Given the description of an element on the screen output the (x, y) to click on. 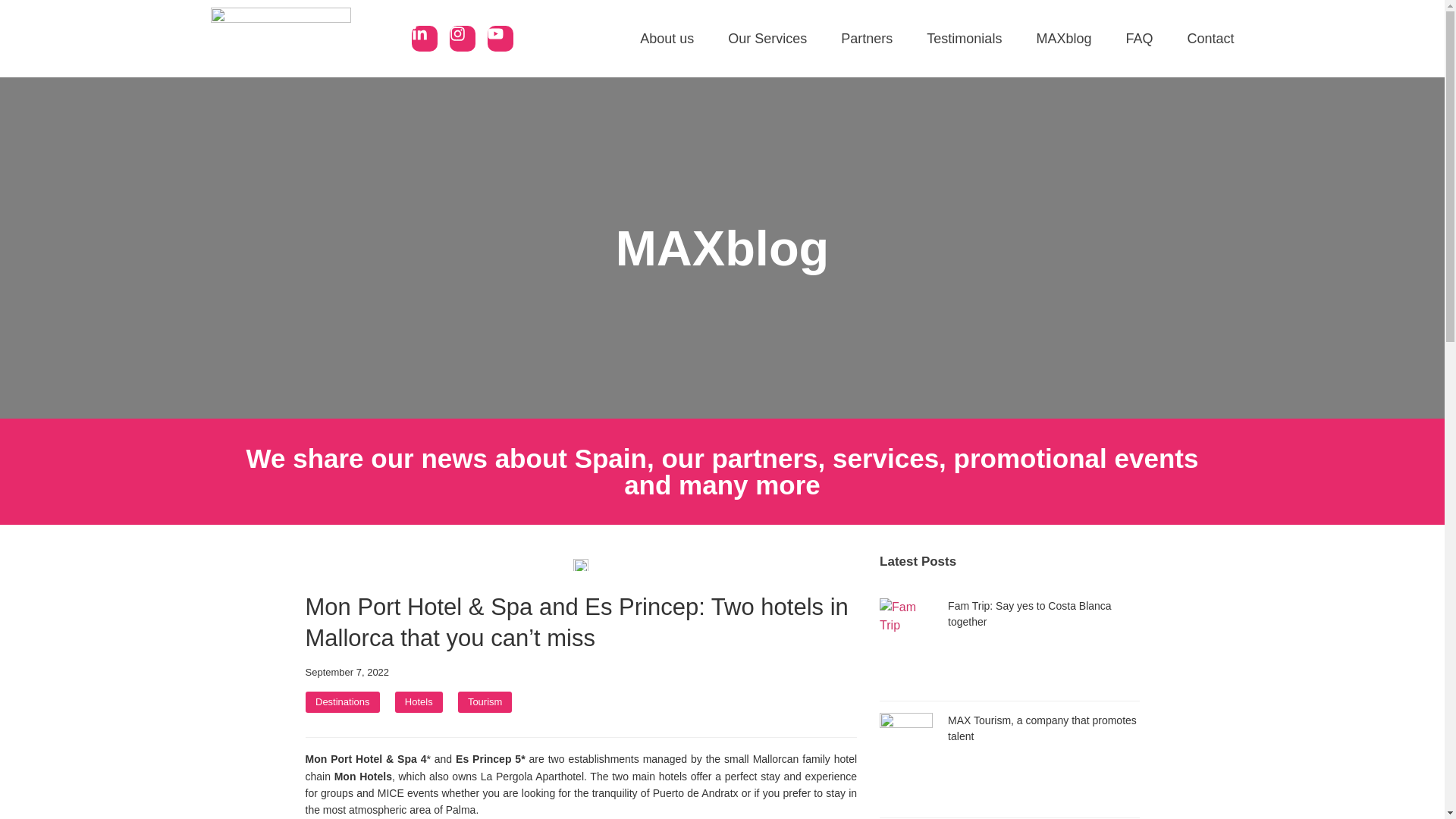
Tourism (485, 702)
September 7, 2022 (346, 672)
MAXblog (1062, 38)
Fam Trip: Say yes to Costa Blanca together (1029, 613)
About us (667, 38)
Destinations (342, 702)
Testimonials (963, 38)
Hotels (418, 702)
Contact (1209, 38)
Our Services (767, 38)
